Given the description of an element on the screen output the (x, y) to click on. 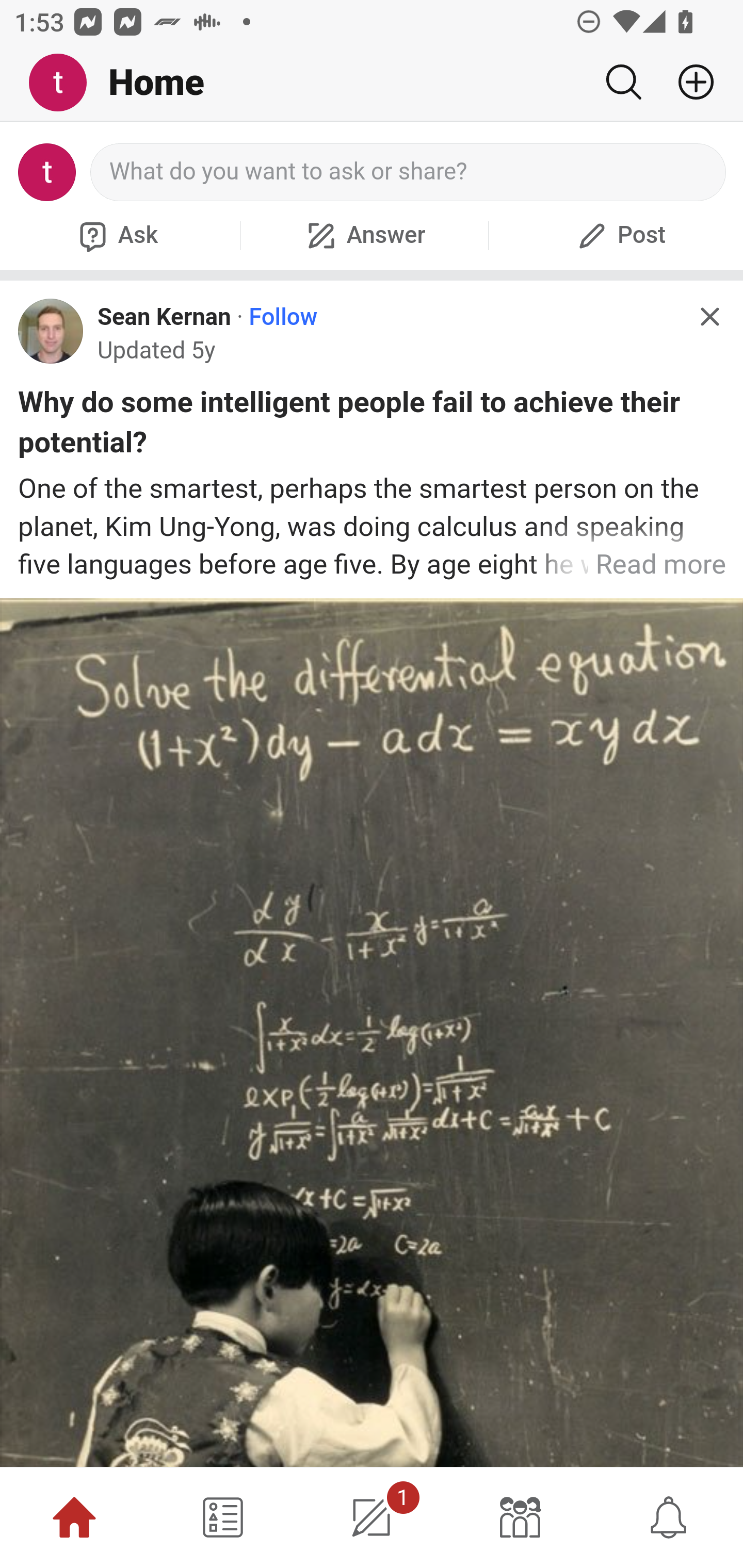
Me (64, 83)
Search (623, 82)
Add (688, 82)
What do you want to ask or share? (408, 172)
Ask (116, 234)
Answer (364, 234)
Post (618, 234)
Hide (709, 316)
Profile photo for Sean Kernan (50, 330)
Sean Kernan (164, 316)
Follow (283, 316)
1 (371, 1517)
